Given the description of an element on the screen output the (x, y) to click on. 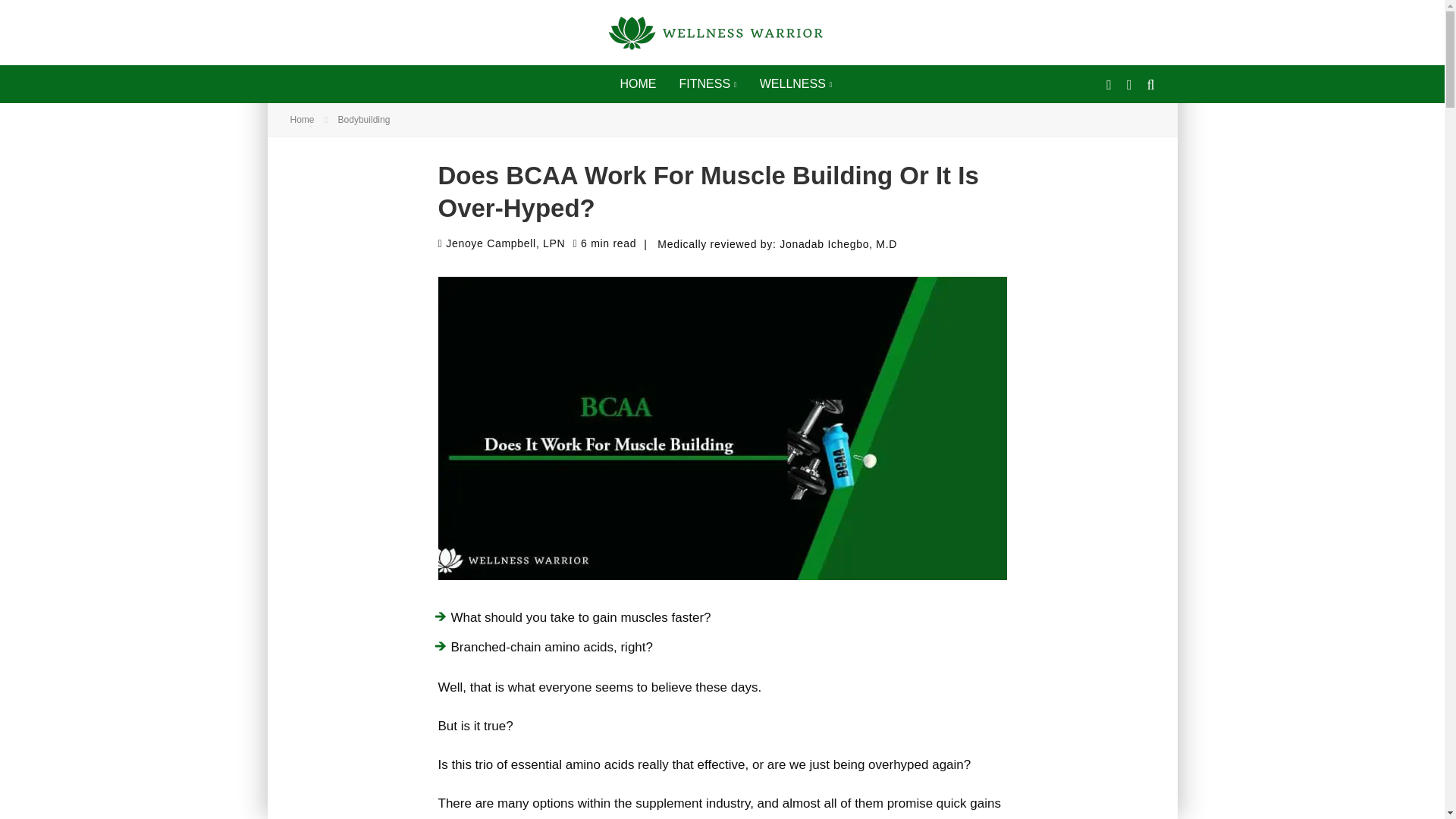
HOME (637, 84)
Home (301, 119)
Jonadab Ichegbo, M.D (837, 244)
WELLNESS (796, 84)
FITNESS (707, 84)
Bodybuilding (363, 119)
Jenoye Campbell, LPN (502, 243)
